Given the description of an element on the screen output the (x, y) to click on. 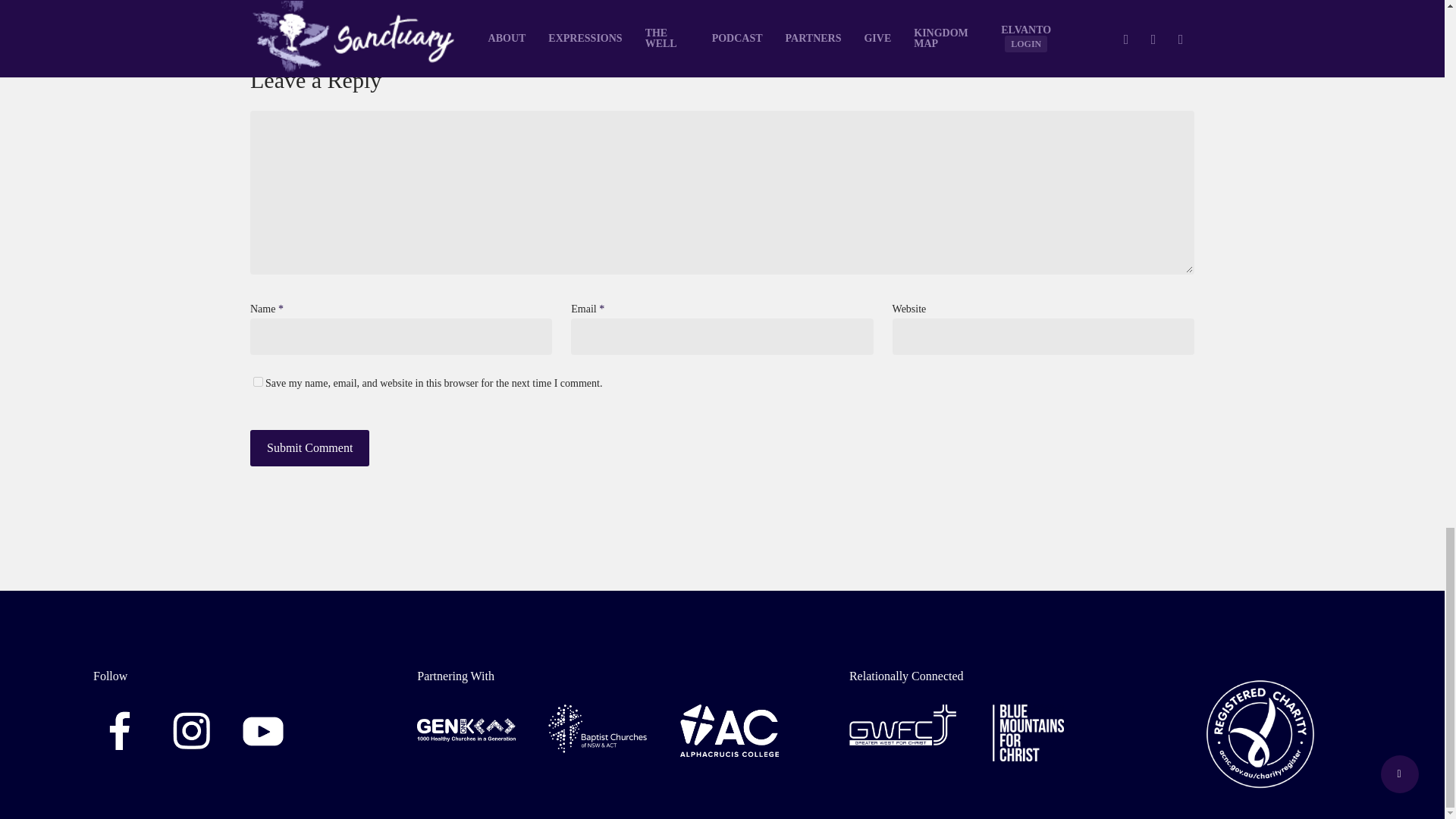
Submit Comment (309, 447)
yes (258, 381)
